Given the description of an element on the screen output the (x, y) to click on. 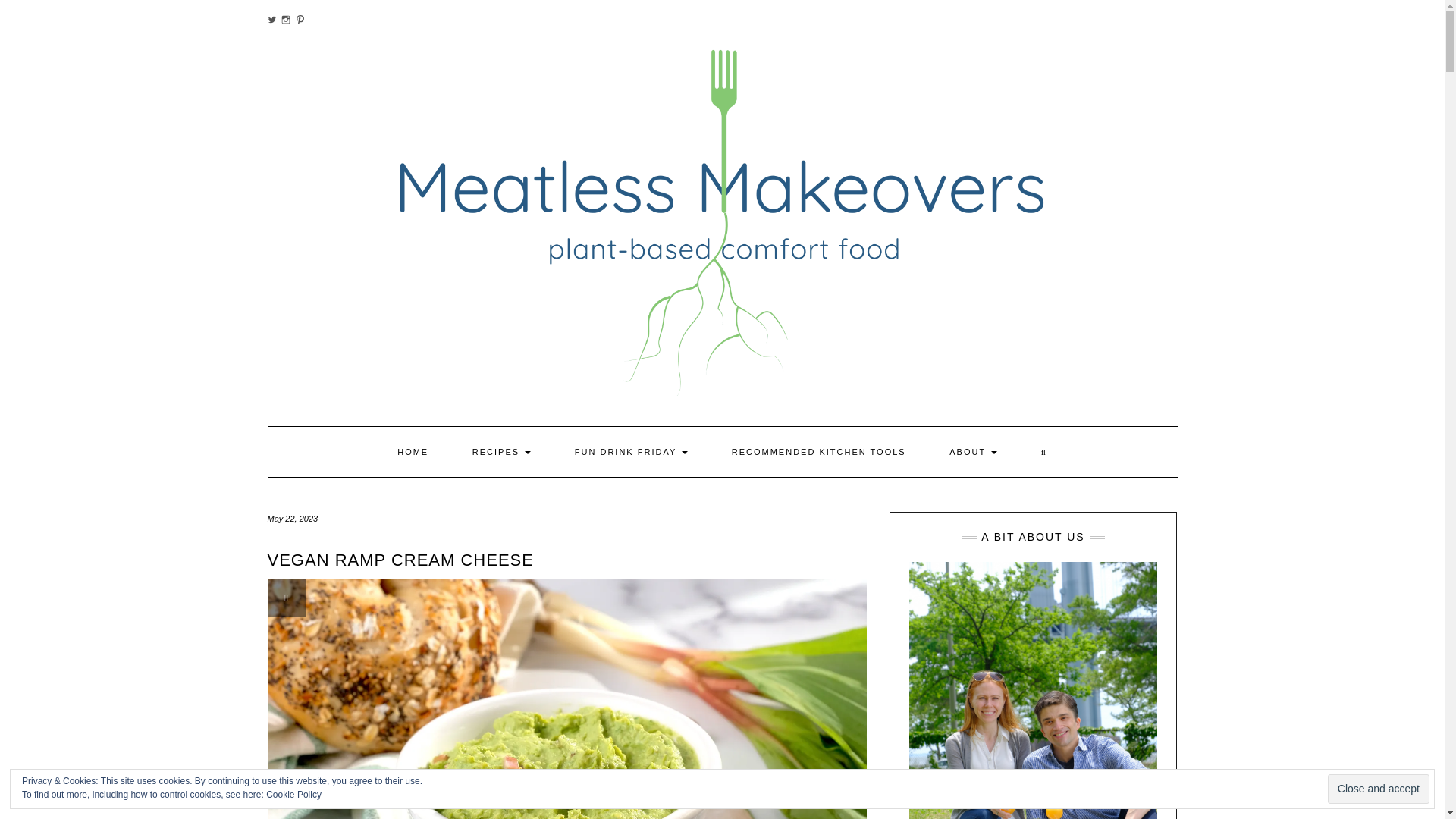
PINTEREST (299, 19)
HOME (412, 451)
INSTAGRAM (285, 19)
TWITTER (271, 19)
RECIPES (501, 451)
FUN DRINK FRIDAY (630, 451)
Close and accept (1378, 788)
